Given the description of an element on the screen output the (x, y) to click on. 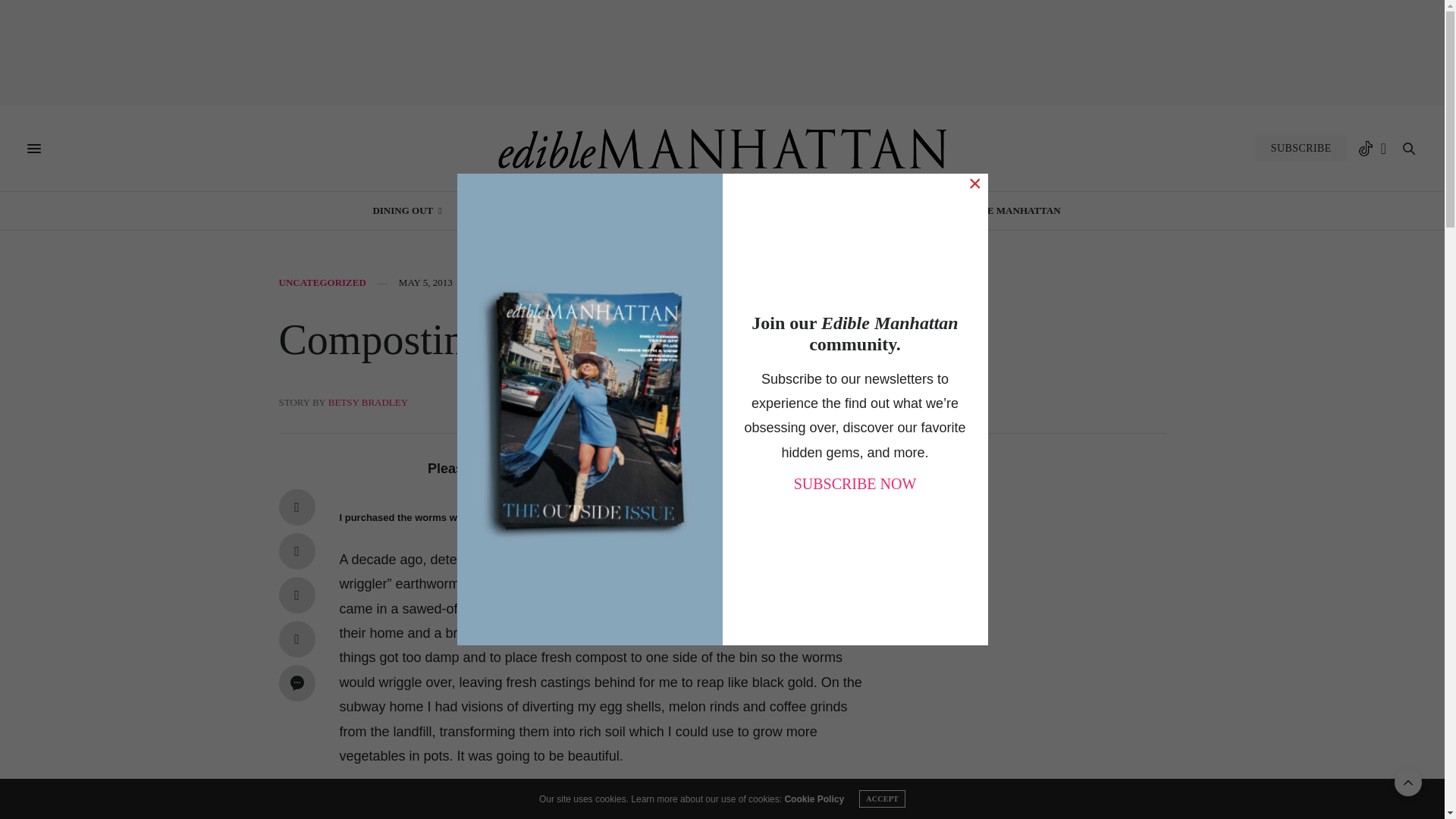
3rd party ad content (722, 52)
